Given the description of an element on the screen output the (x, y) to click on. 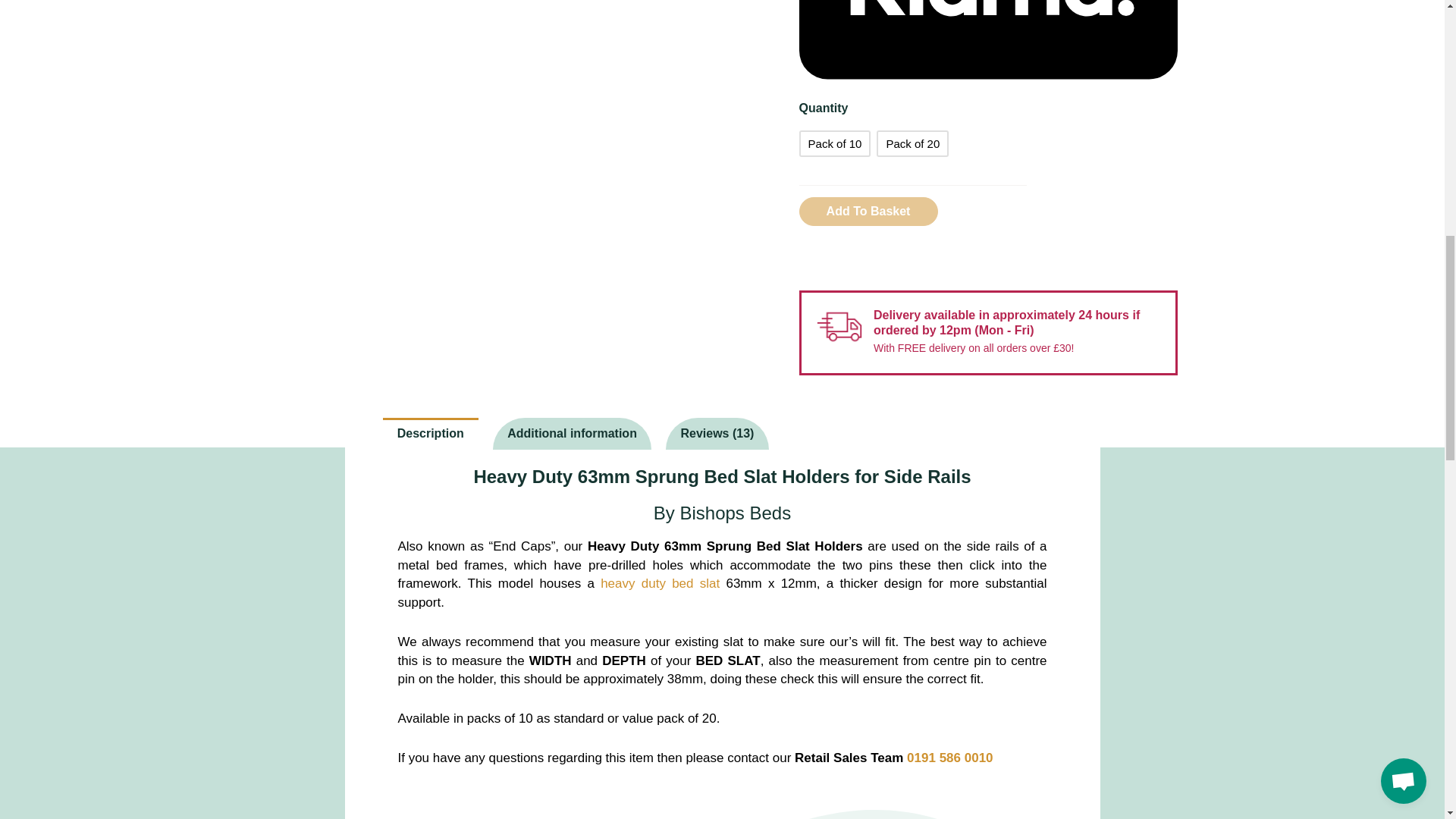
PayPal Message 1 (912, 257)
